Given the description of an element on the screen output the (x, y) to click on. 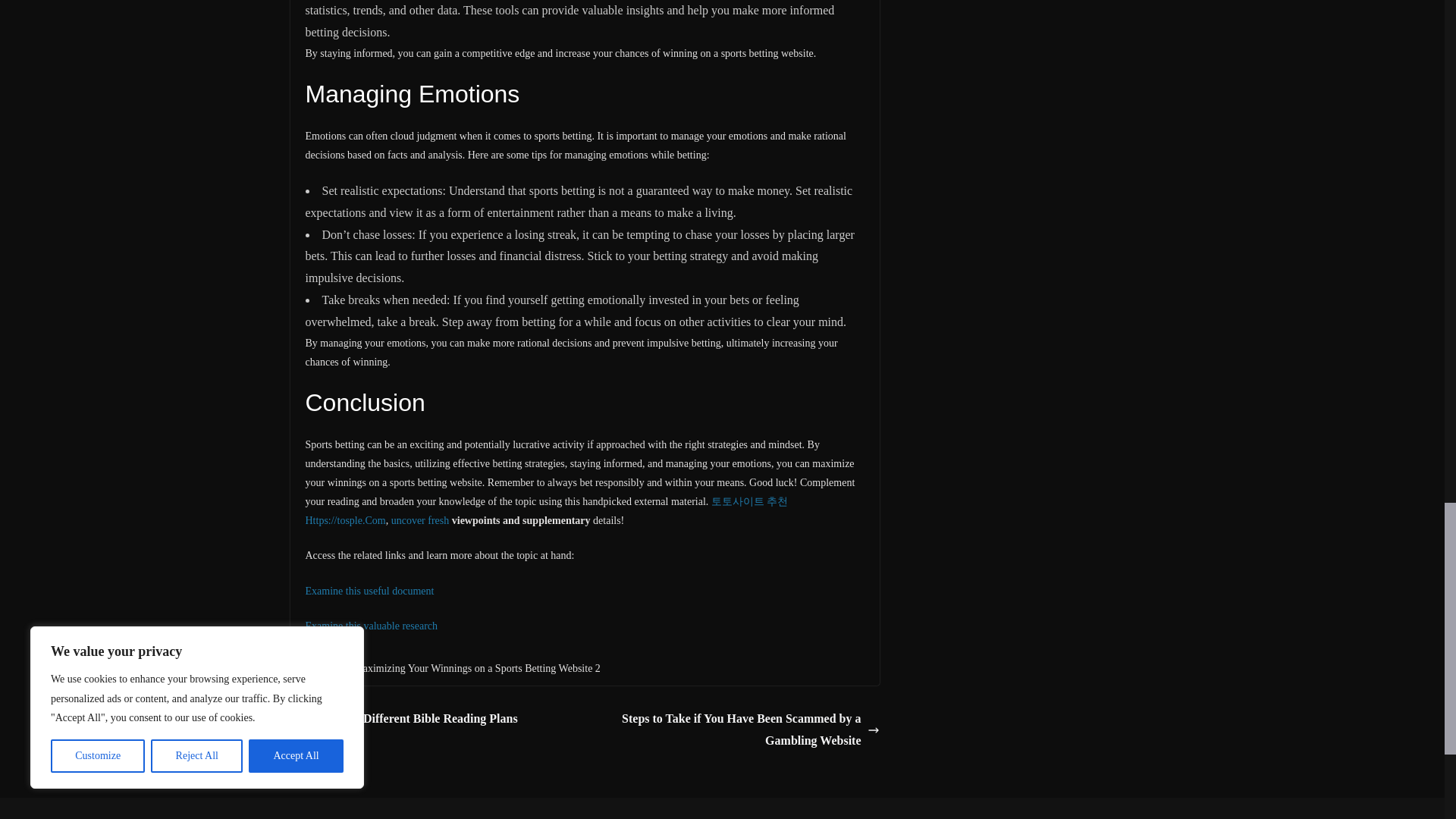
Examine this valuable research (371, 625)
Exploring Different Bible Reading Plans (402, 719)
Steps to Take if You Have Been Scammed by a Gambling Website (735, 730)
uncover fresh (420, 520)
Examine this useful document (368, 591)
